Given the description of an element on the screen output the (x, y) to click on. 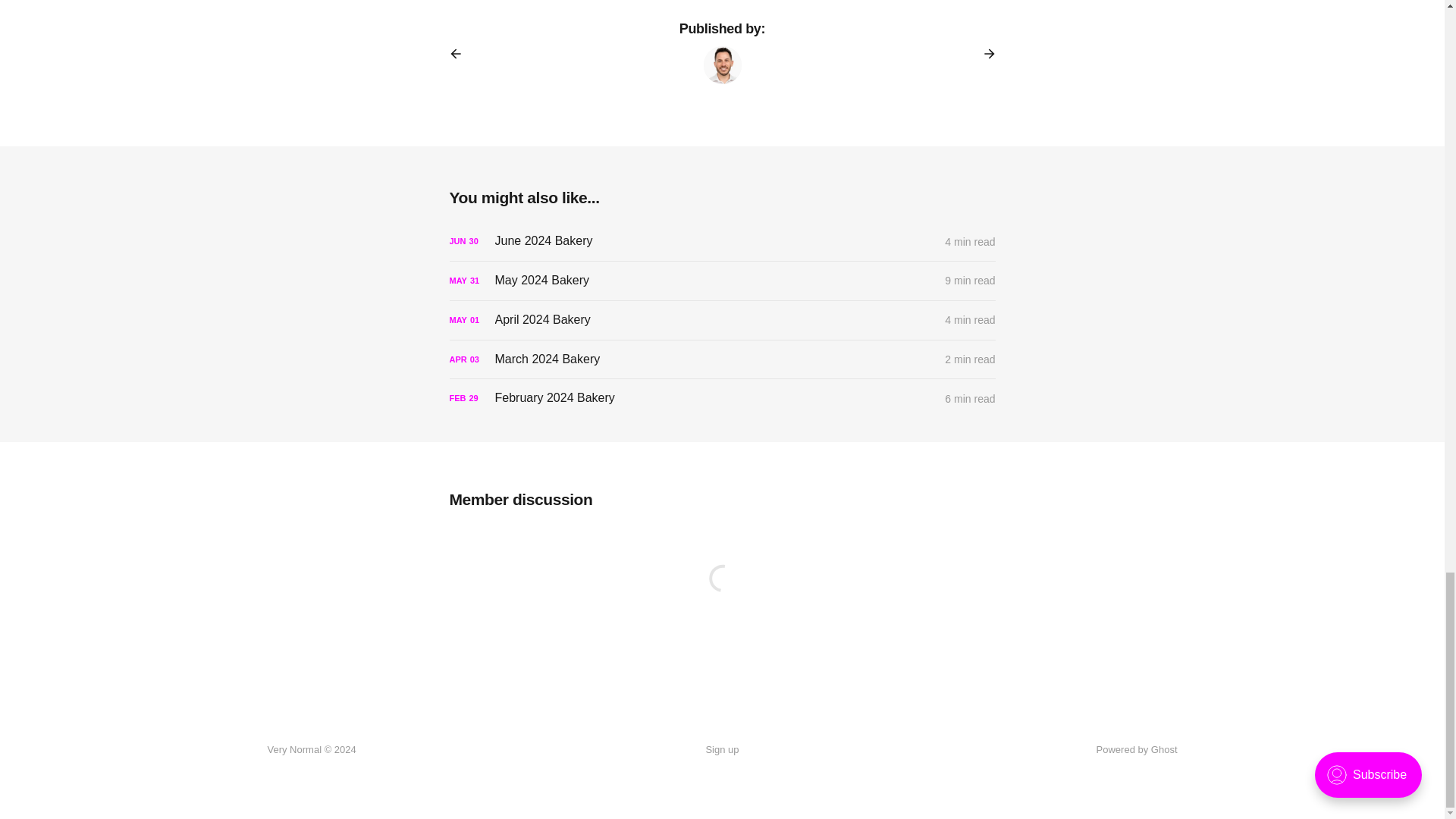
comments-frame (721, 596)
Powered by Ghost (1136, 749)
Sign up (721, 750)
